Given the description of an element on the screen output the (x, y) to click on. 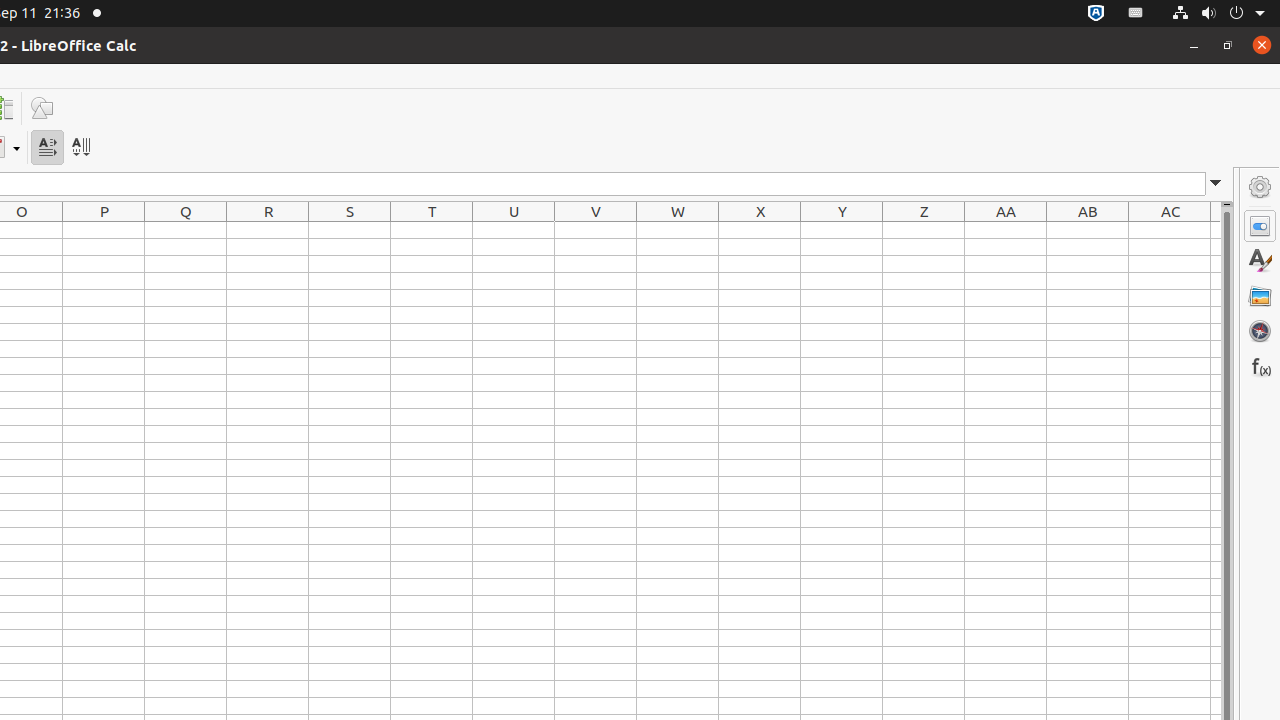
Z1 Element type: table-cell (924, 230)
Y1 Element type: table-cell (842, 230)
R1 Element type: table-cell (268, 230)
Text direction from top to bottom Element type: toggle-button (80, 147)
Draw Functions Element type: toggle-button (41, 108)
